Given the description of an element on the screen output the (x, y) to click on. 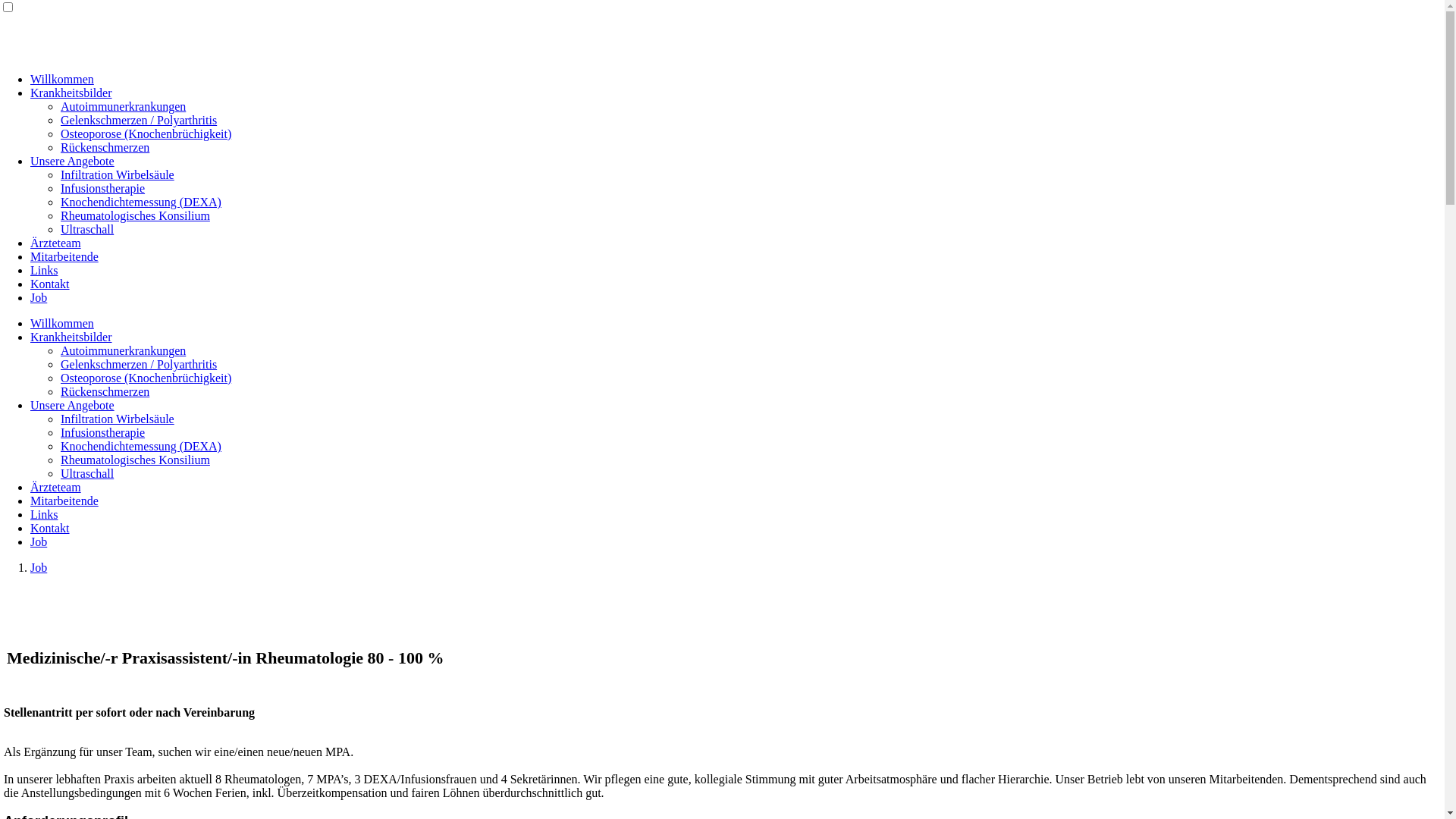
Gelenkschmerzen / Polyarthritis Element type: text (138, 119)
Ultraschall Element type: text (86, 228)
Knochendichtemessung (DEXA) Element type: text (140, 201)
Autoimmunerkrankungen Element type: text (122, 106)
Gelenkschmerzen / Polyarthritis Element type: text (138, 363)
Job Element type: text (38, 297)
Krankheitsbilder Element type: text (71, 336)
Links Element type: text (43, 514)
Rheumatologisches Konsilium Element type: text (135, 459)
Unsere Angebote Element type: text (72, 404)
Infusionstherapie Element type: text (102, 188)
Autoimmunerkrankungen Element type: text (122, 350)
Mitarbeitende Element type: text (64, 500)
Ultraschall Element type: text (86, 473)
Kontakt Element type: text (49, 527)
Job Element type: text (38, 567)
Willkommen Element type: text (62, 322)
Rheumatologisches Konsilium Element type: text (135, 215)
Infusionstherapie Element type: text (102, 432)
Willkommen Element type: text (62, 78)
Knochendichtemessung (DEXA) Element type: text (140, 445)
Kontakt Element type: text (49, 283)
Links Element type: text (43, 269)
Unsere Angebote Element type: text (72, 160)
Job Element type: text (38, 541)
Mitarbeitende Element type: text (64, 256)
Krankheitsbilder Element type: text (71, 92)
